Given the description of an element on the screen output the (x, y) to click on. 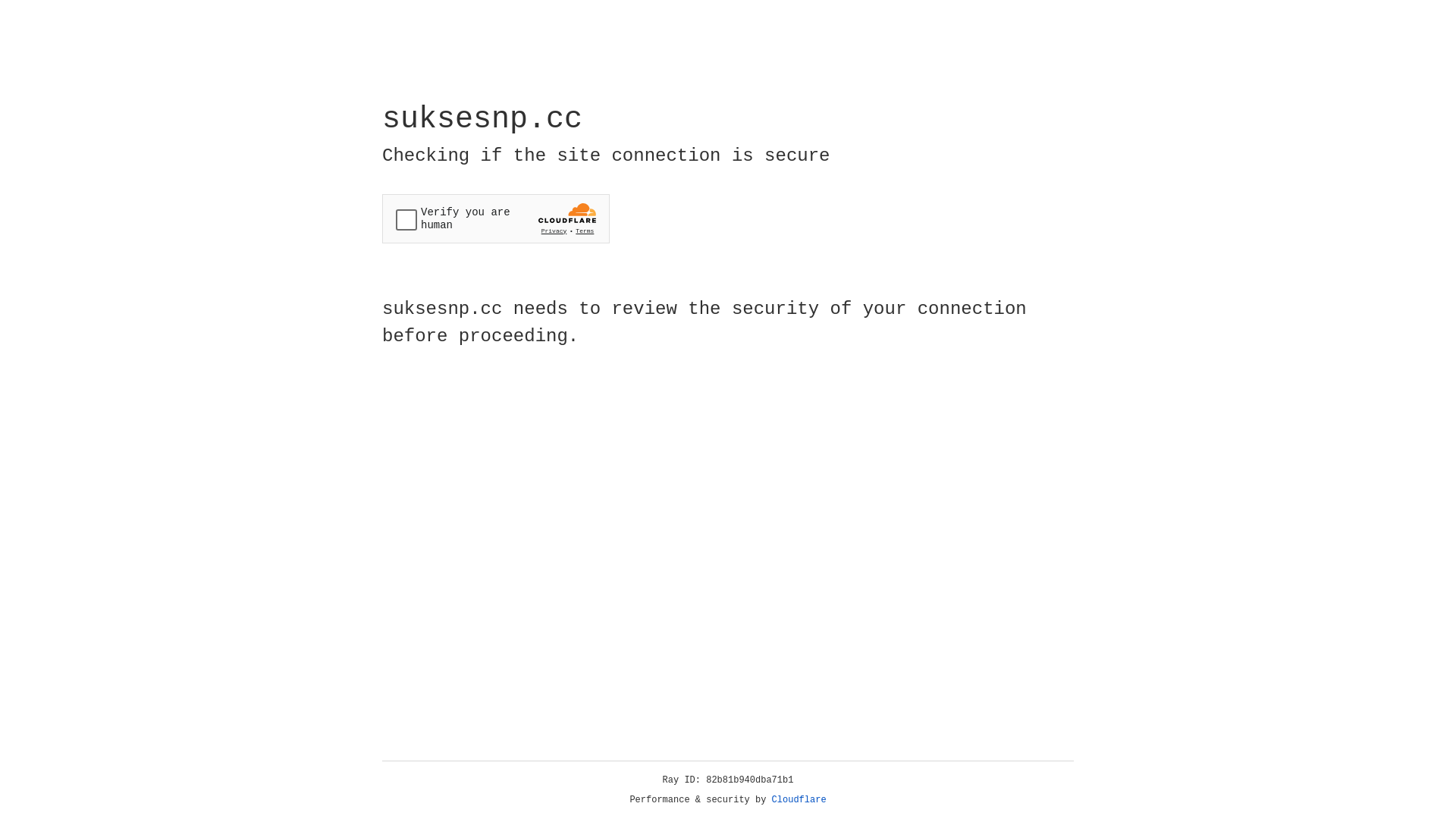
Cloudflare Element type: text (798, 799)
Widget containing a Cloudflare security challenge Element type: hover (495, 218)
